Given the description of an element on the screen output the (x, y) to click on. 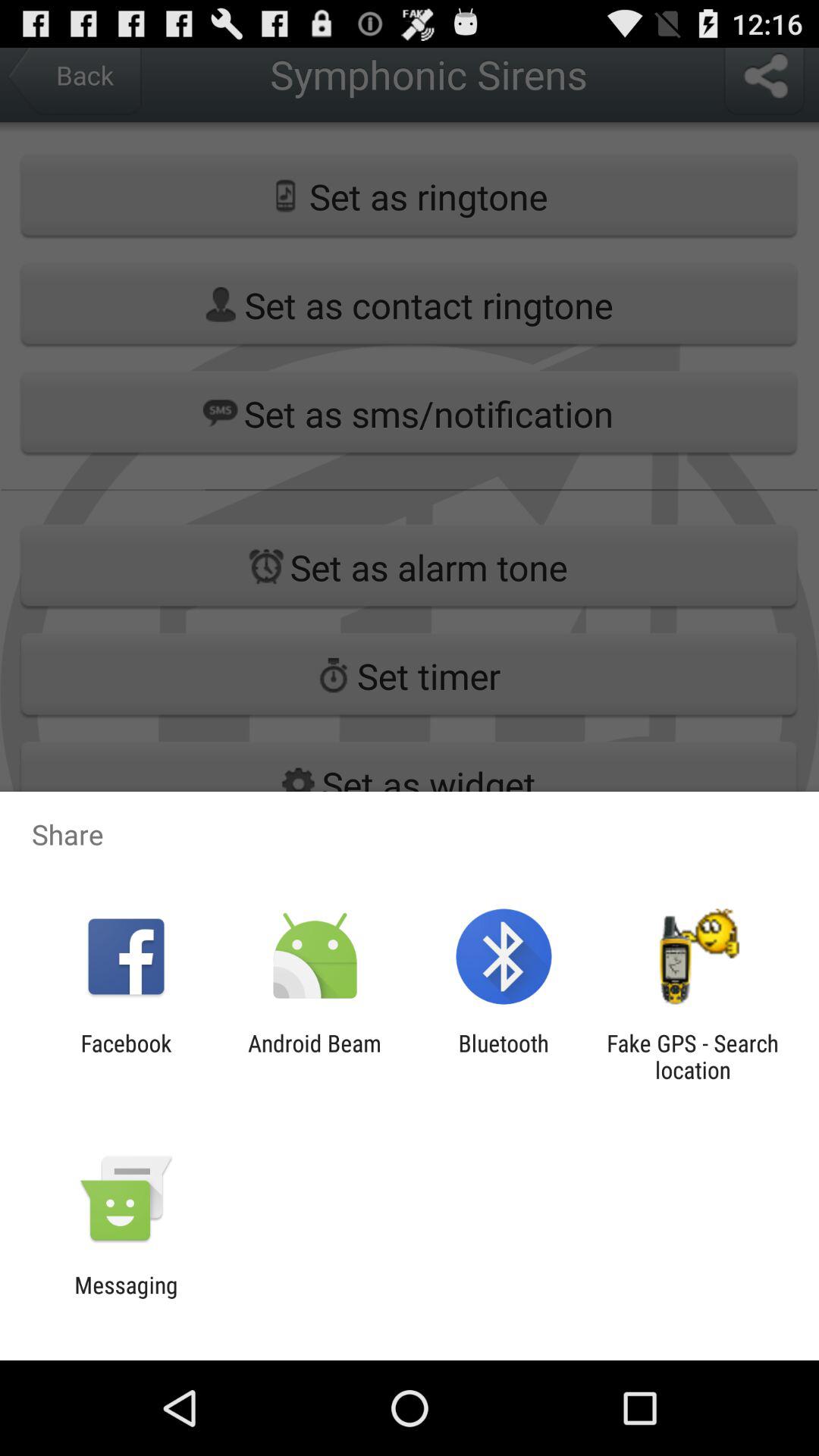
tap fake gps search icon (692, 1056)
